Given the description of an element on the screen output the (x, y) to click on. 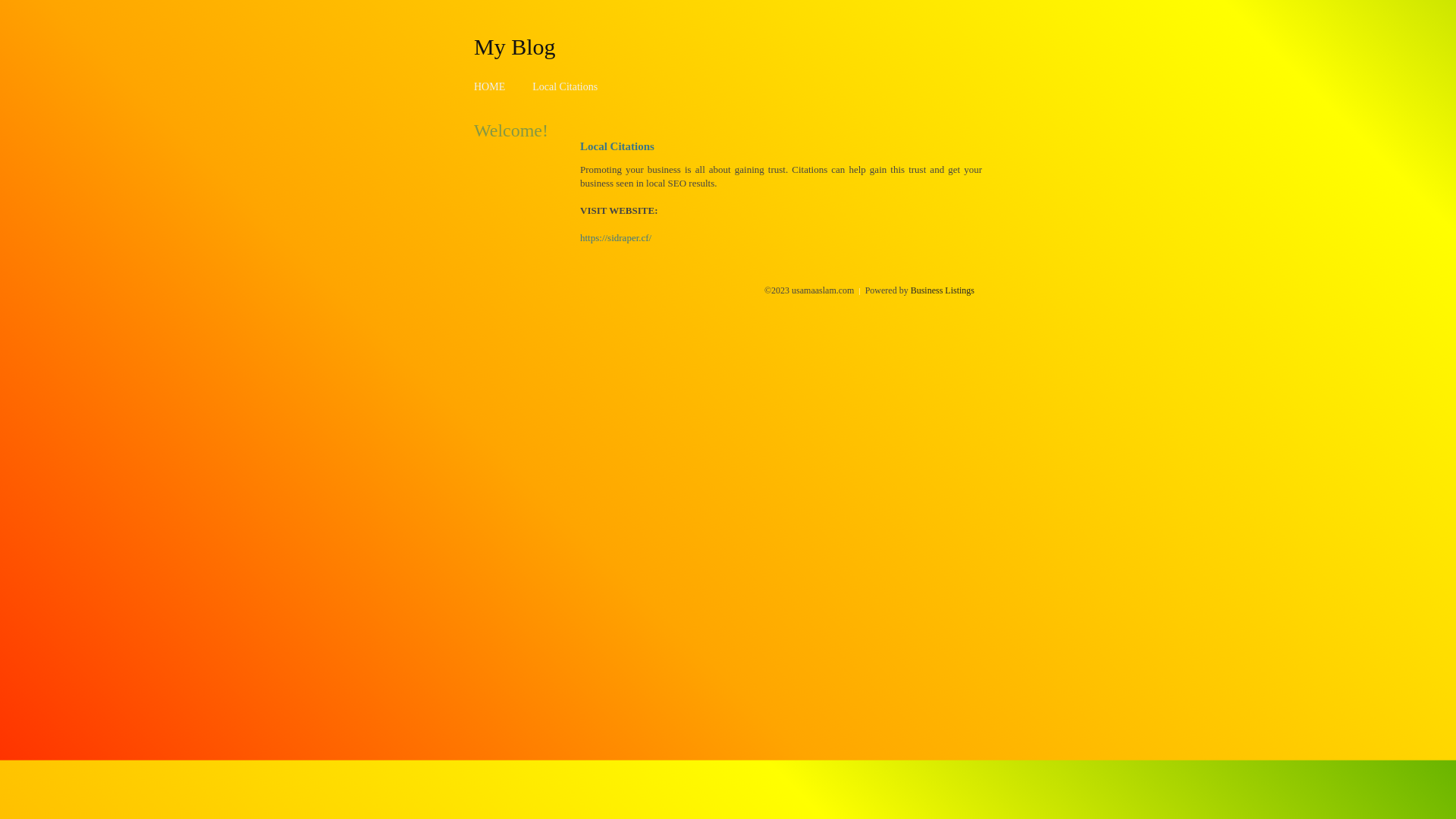
Local Citations Element type: text (564, 86)
https://sidraper.cf/ Element type: text (615, 237)
Business Listings Element type: text (942, 290)
HOME Element type: text (489, 86)
My Blog Element type: text (514, 46)
